Given the description of an element on the screen output the (x, y) to click on. 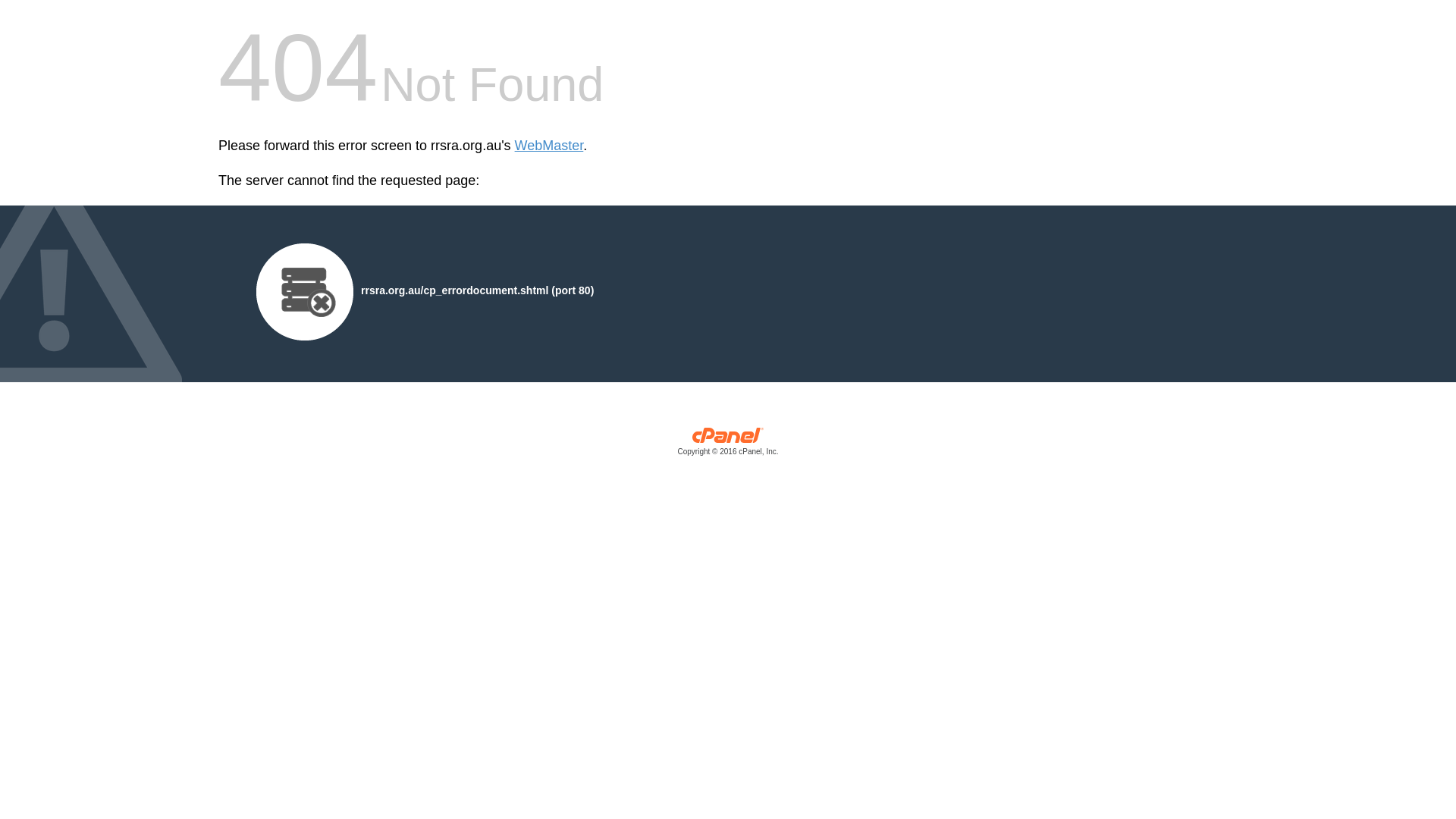
WebMaster Element type: text (548, 145)
